Given the description of an element on the screen output the (x, y) to click on. 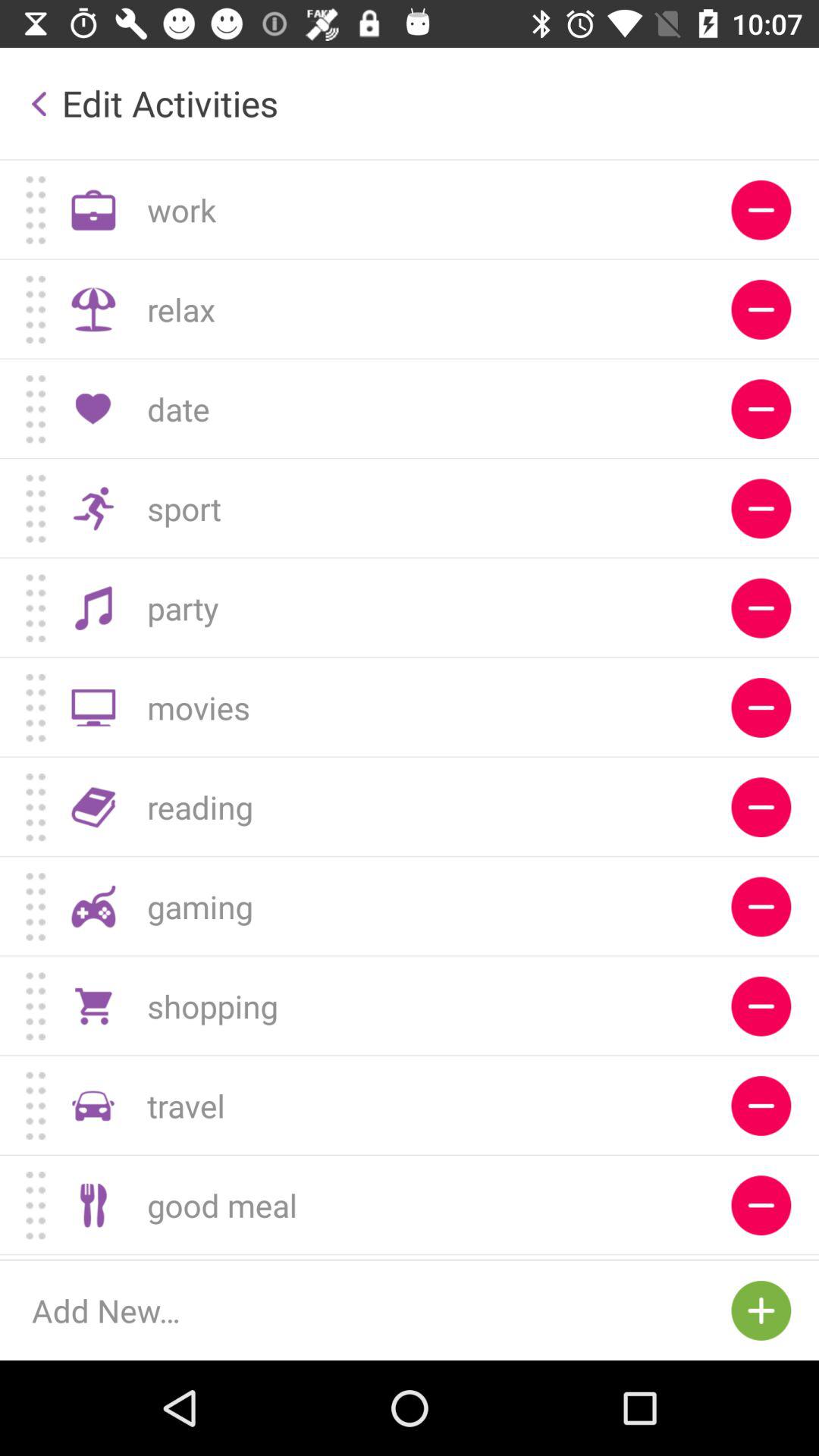
delete work activity (761, 209)
